Given the description of an element on the screen output the (x, y) to click on. 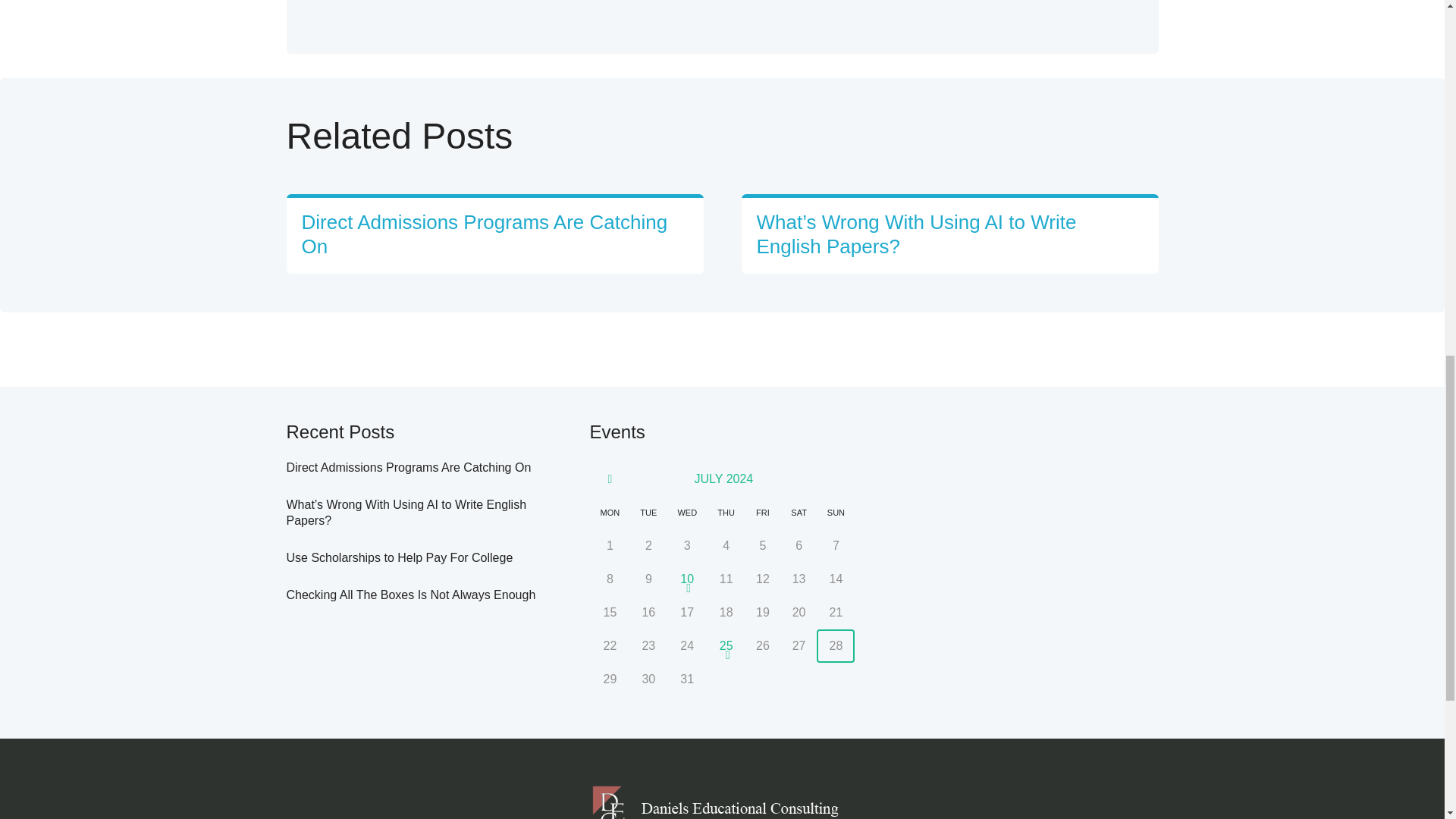
Saturday (798, 512)
View posts for February 2024 (609, 479)
View posts for July 2024 (724, 478)
Friday (762, 512)
Tuesday (648, 512)
Wednesday (686, 512)
Direct Admissions Programs Are Catching On (408, 467)
Thursday (725, 512)
Monday (609, 512)
Direct Admissions Programs Are Catching On (484, 233)
